Given the description of an element on the screen output the (x, y) to click on. 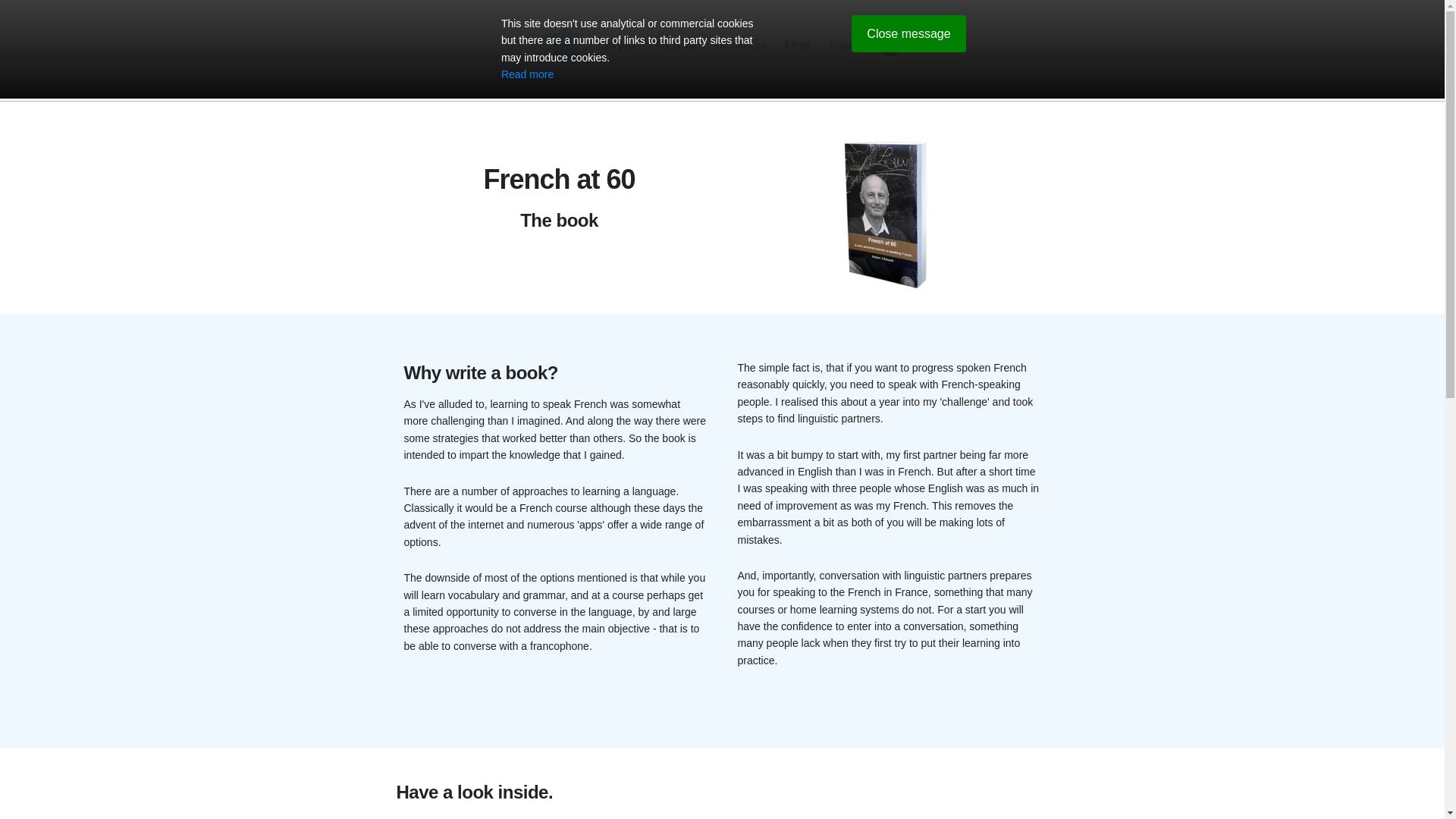
Close message (908, 33)
Films (797, 44)
Resources (740, 44)
My Book (676, 44)
France (845, 44)
Bonjour (619, 44)
Facebook (890, 44)
Facebook (890, 51)
Read more (526, 73)
